Given the description of an element on the screen output the (x, y) to click on. 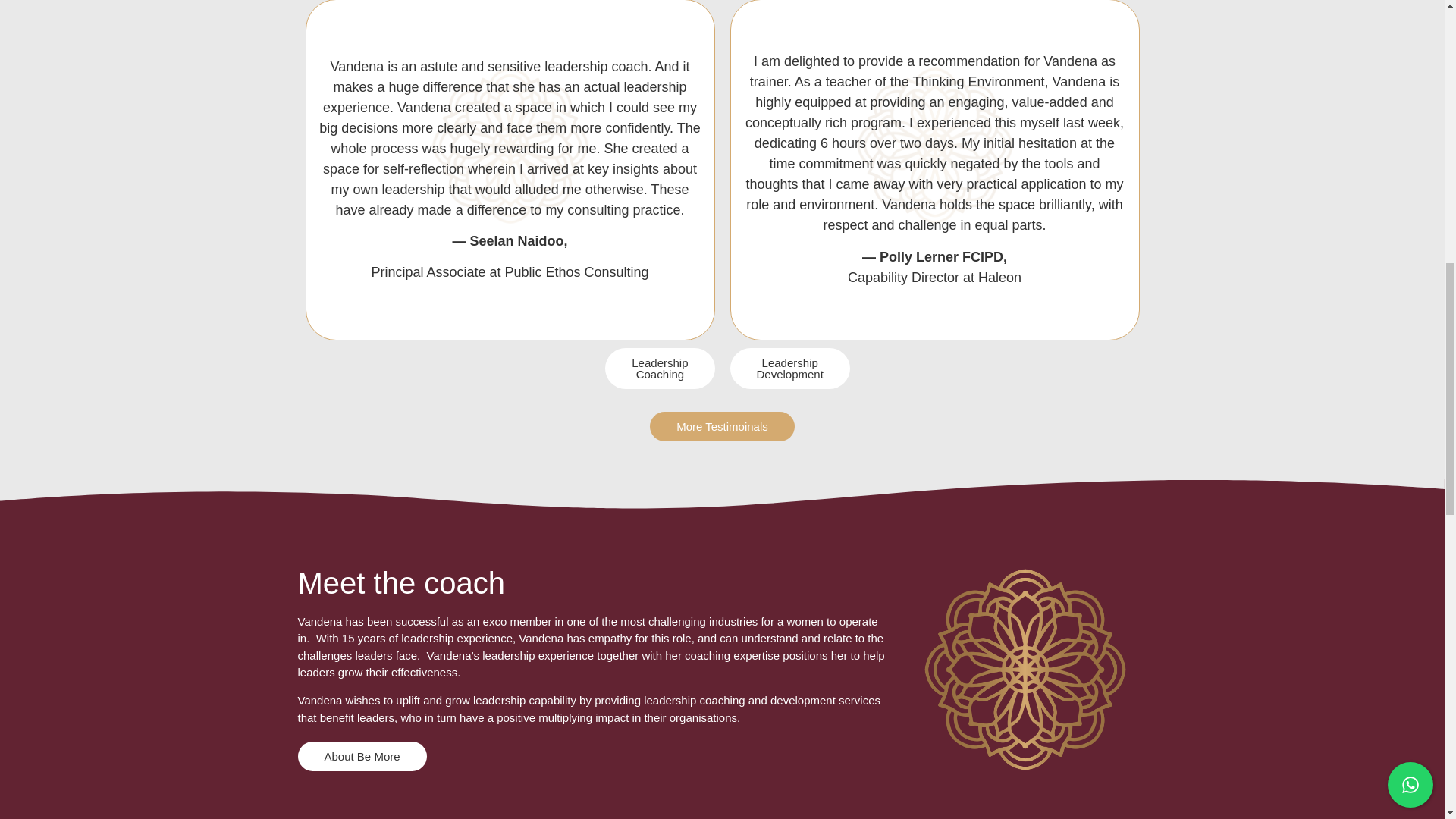
gold-mandala (1024, 669)
